Given the description of an element on the screen output the (x, y) to click on. 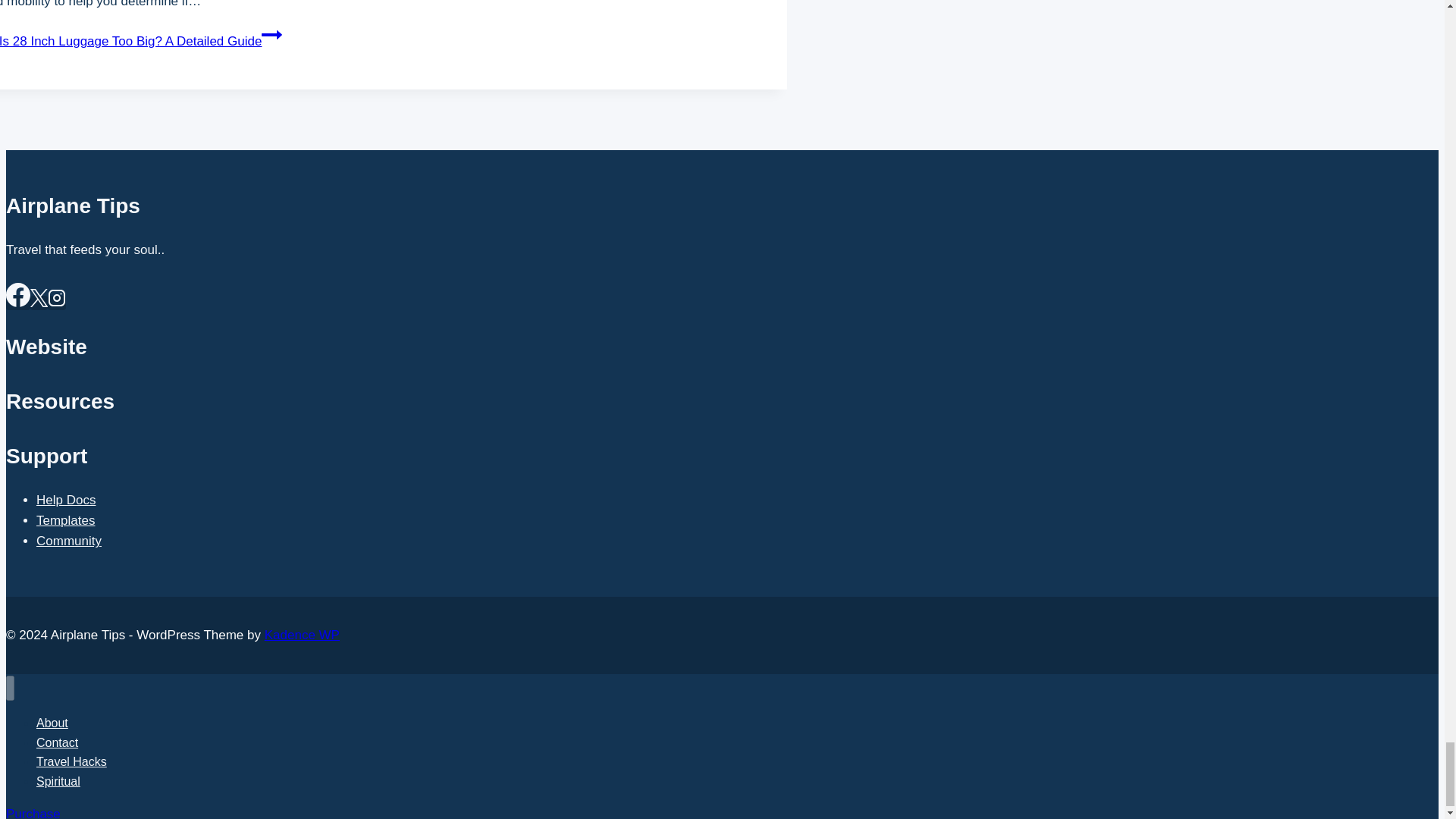
Continue (272, 34)
X (39, 298)
Instagram (56, 298)
Facebook (17, 294)
